Given the description of an element on the screen output the (x, y) to click on. 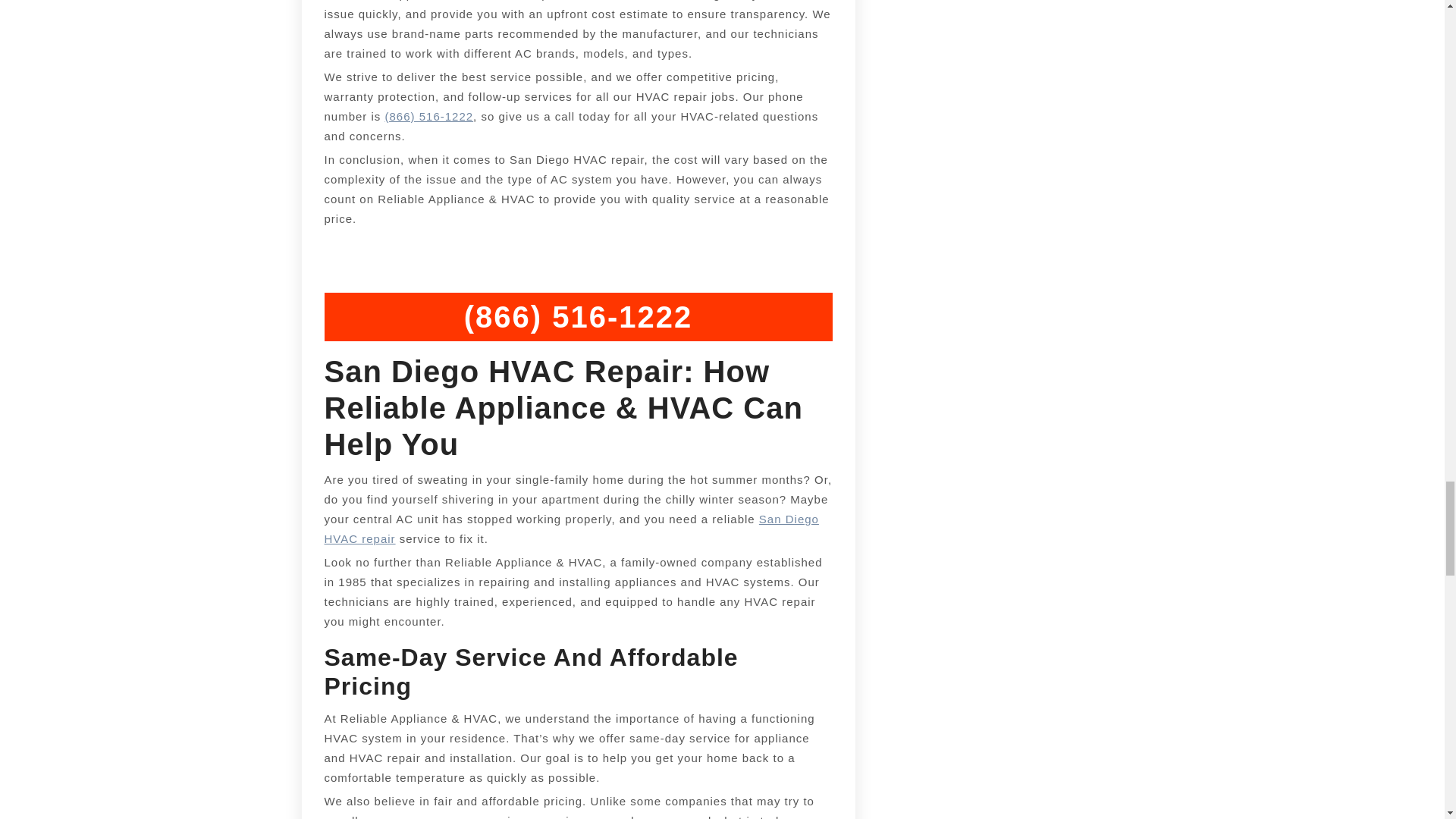
HVAC Repair in San Diego (571, 528)
HVAC Repair in San Diego (429, 115)
San Diego HVAC repair (571, 528)
